Given the description of an element on the screen output the (x, y) to click on. 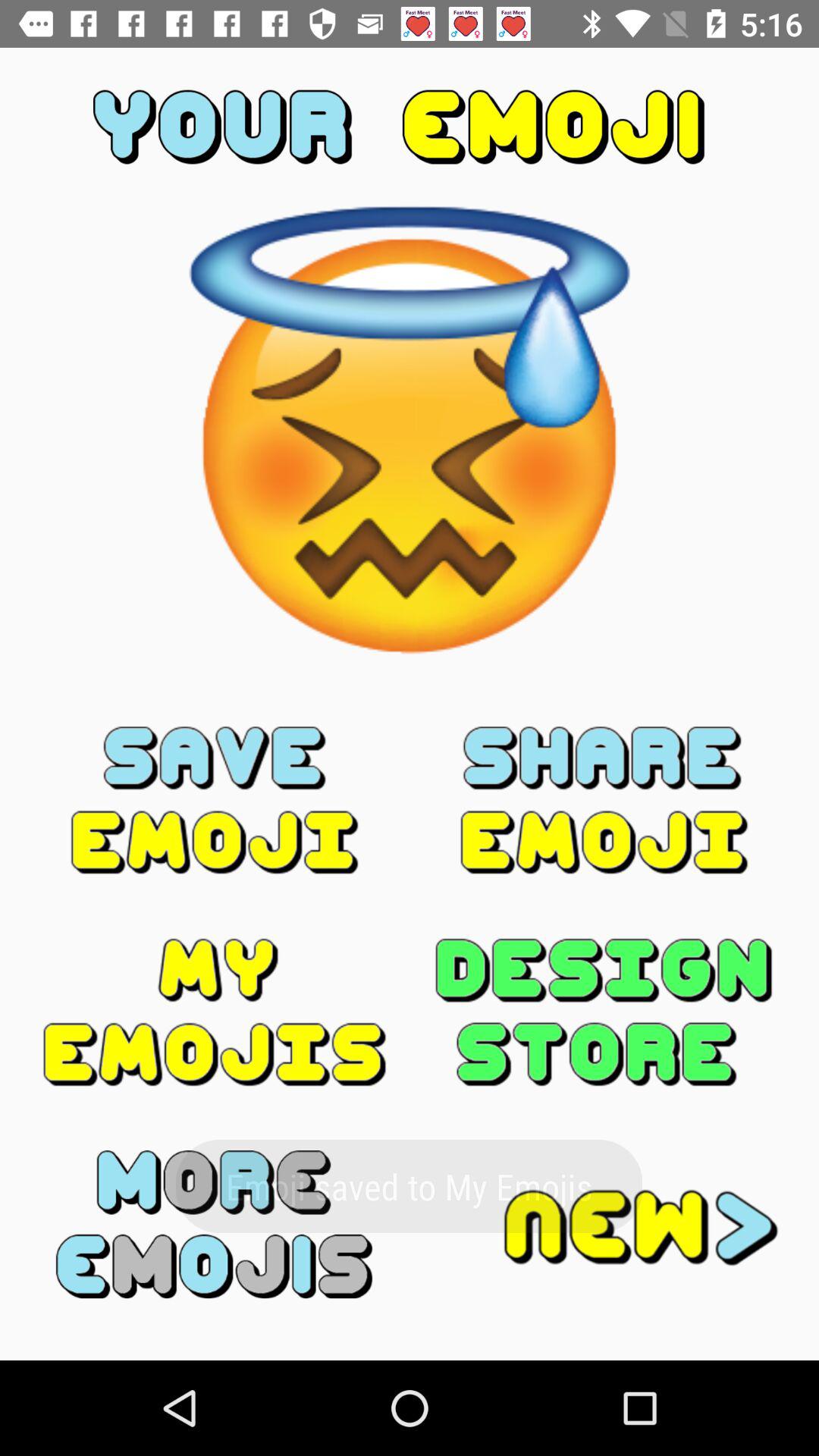
click to save emoji (214, 800)
